Given the description of an element on the screen output the (x, y) to click on. 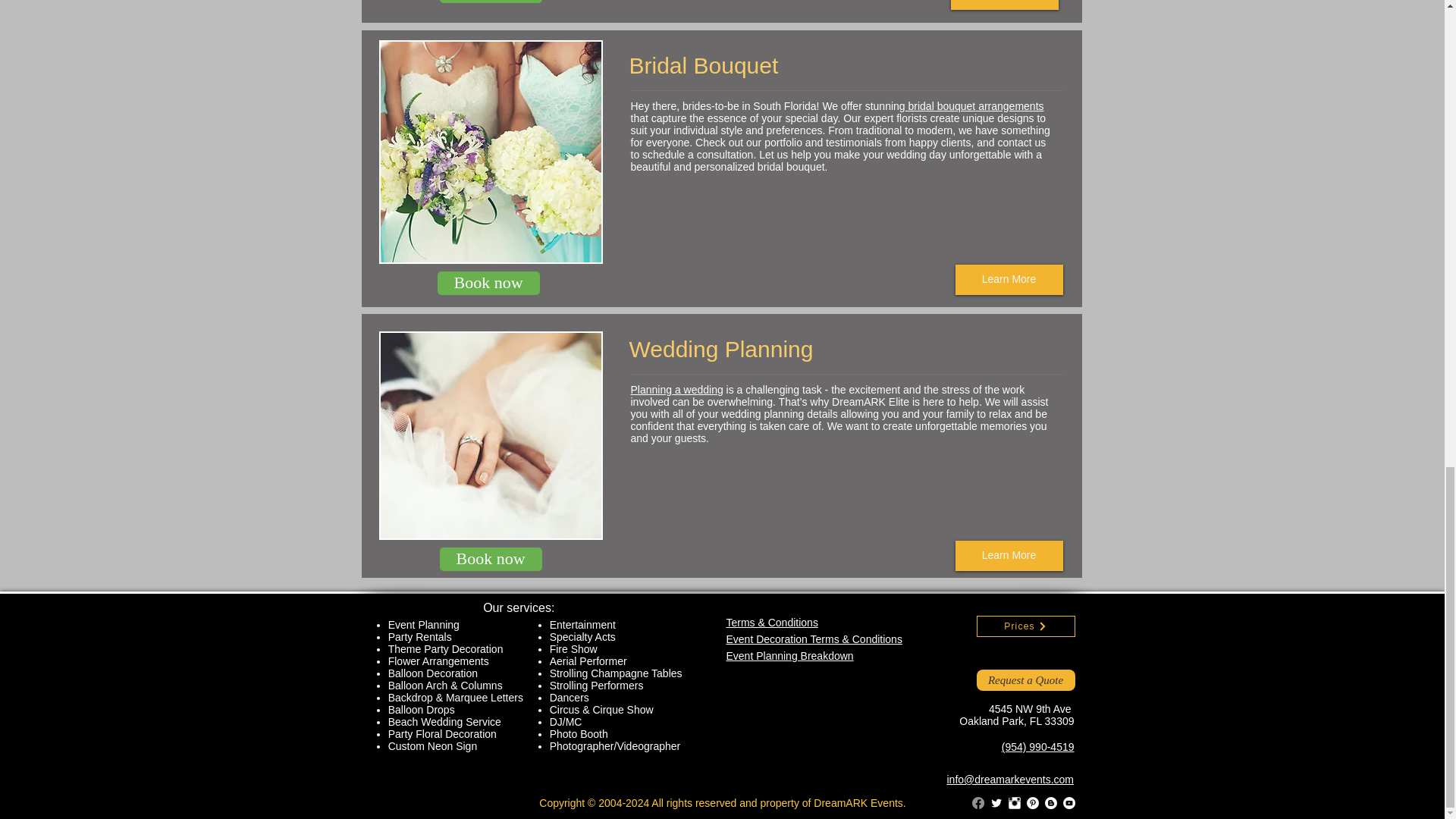
Full service wedding planning (490, 435)
